Given the description of an element on the screen output the (x, y) to click on. 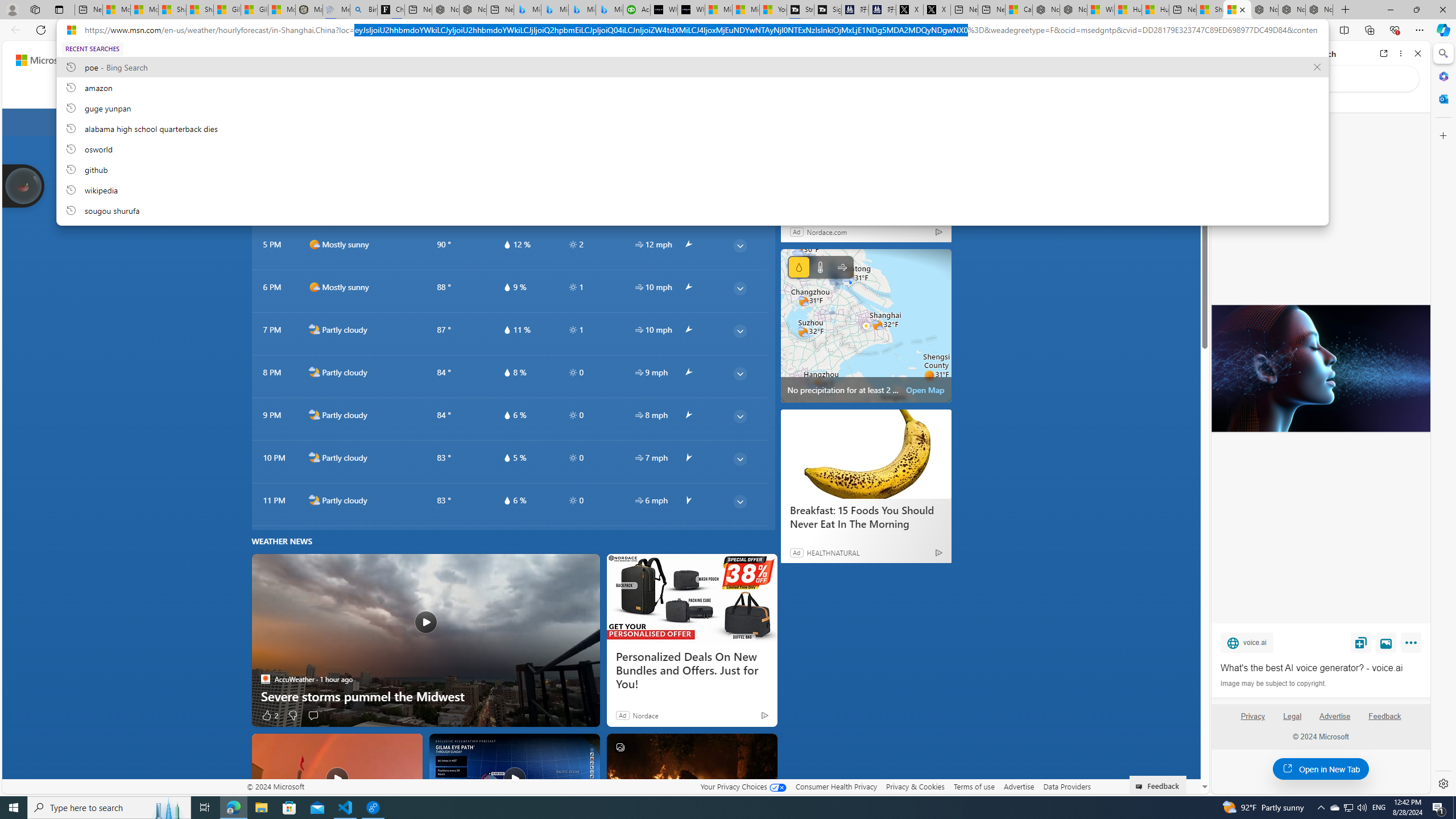
Legal (1292, 720)
Discover (201, 92)
Consumer Health Privacy (835, 786)
Maps (340, 92)
static map image of vector map (866, 325)
Earthquakes (765, 92)
Personalized Deals On New Bundles and Offers. Just for You! (691, 670)
Microsoft Start (746, 9)
Microsoft Bing Travel - Shangri-La Hotel Bangkok (609, 9)
App bar (728, 29)
